Given the description of an element on the screen output the (x, y) to click on. 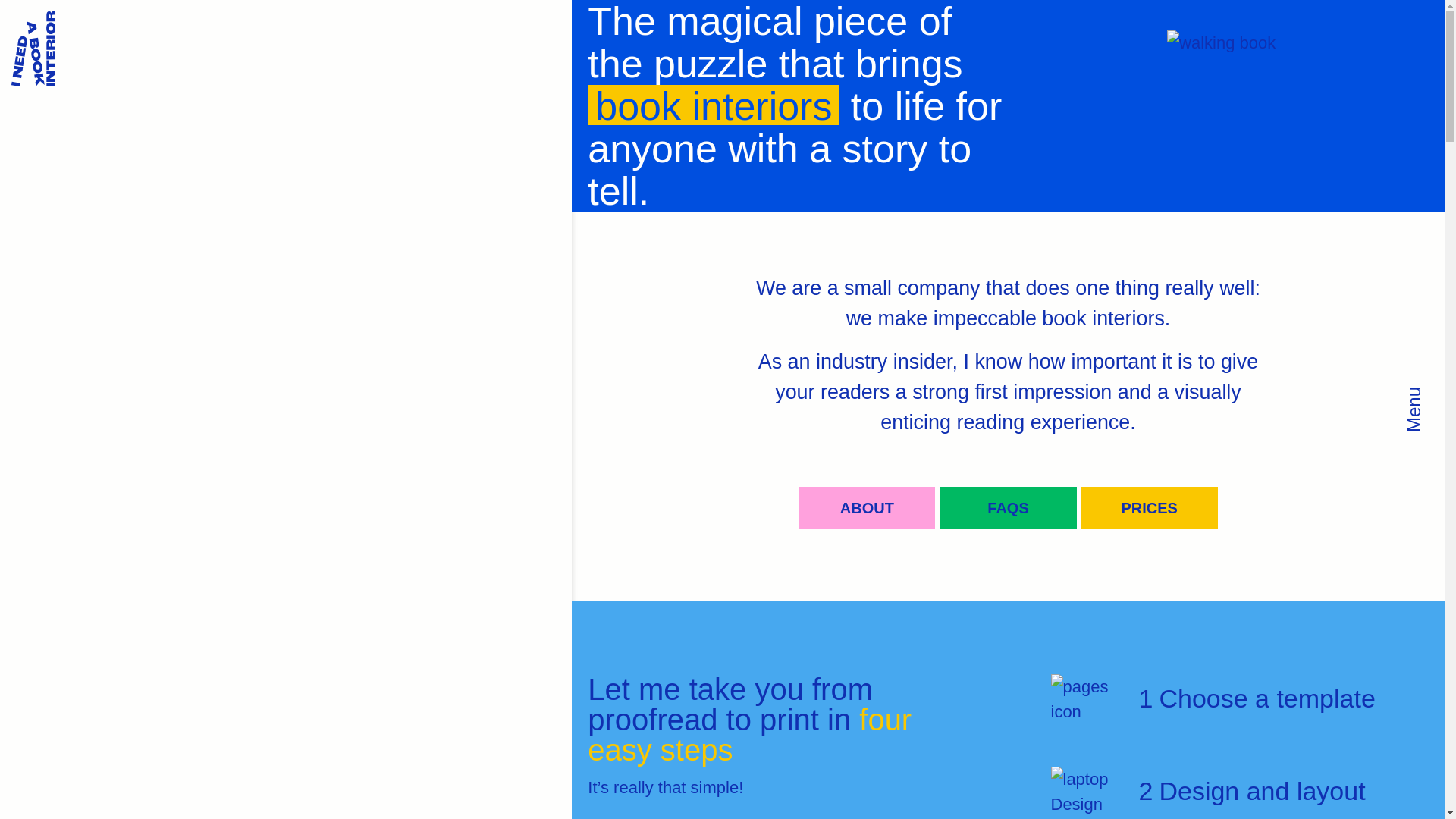
FAQS (1008, 507)
ABOUT (865, 507)
PRICES (1149, 507)
